Given the description of an element on the screen output the (x, y) to click on. 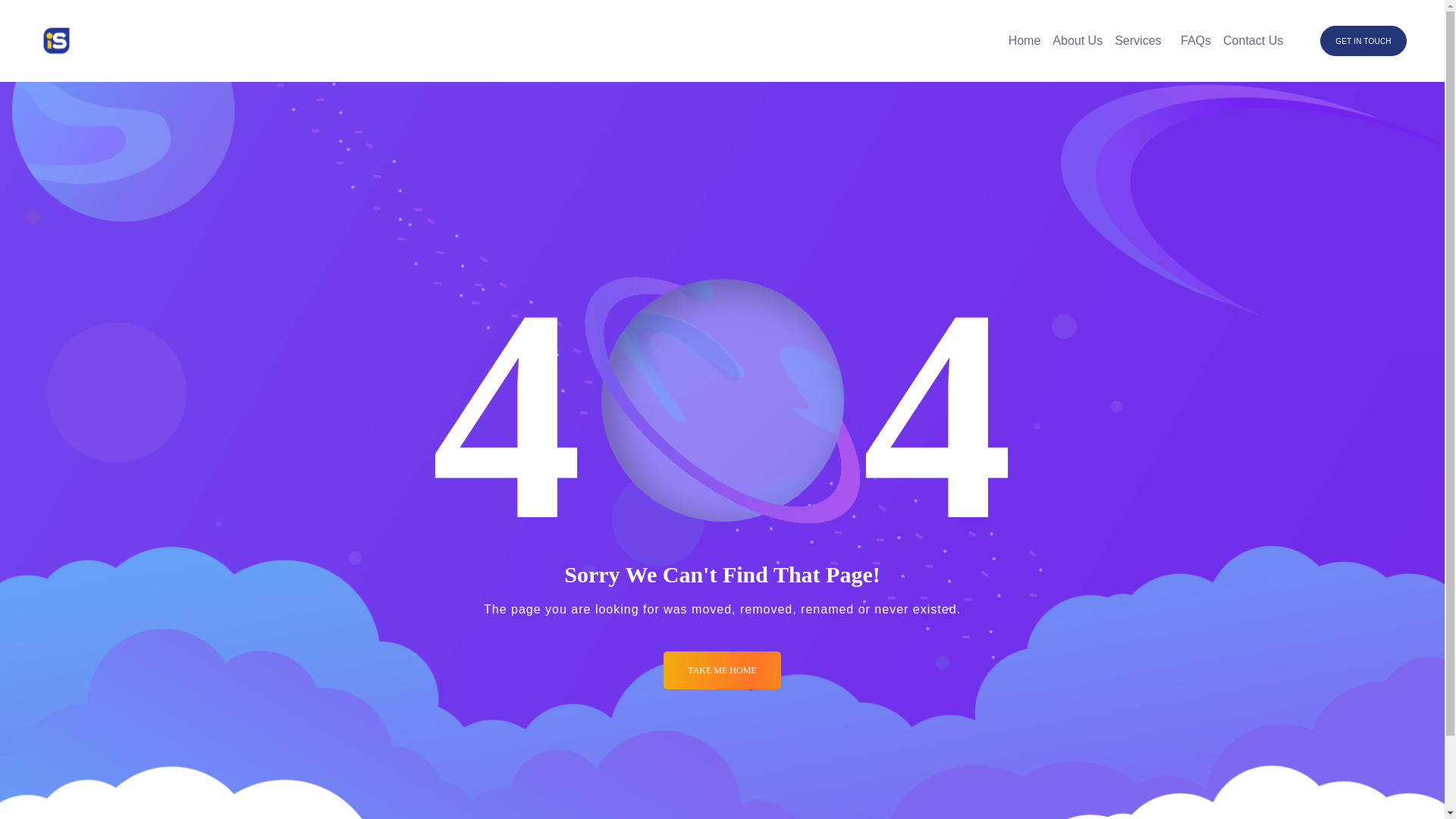
GET IN TOUCH (1363, 40)
Contact Us (1252, 40)
TAKE ME HOME (721, 670)
